Given the description of an element on the screen output the (x, y) to click on. 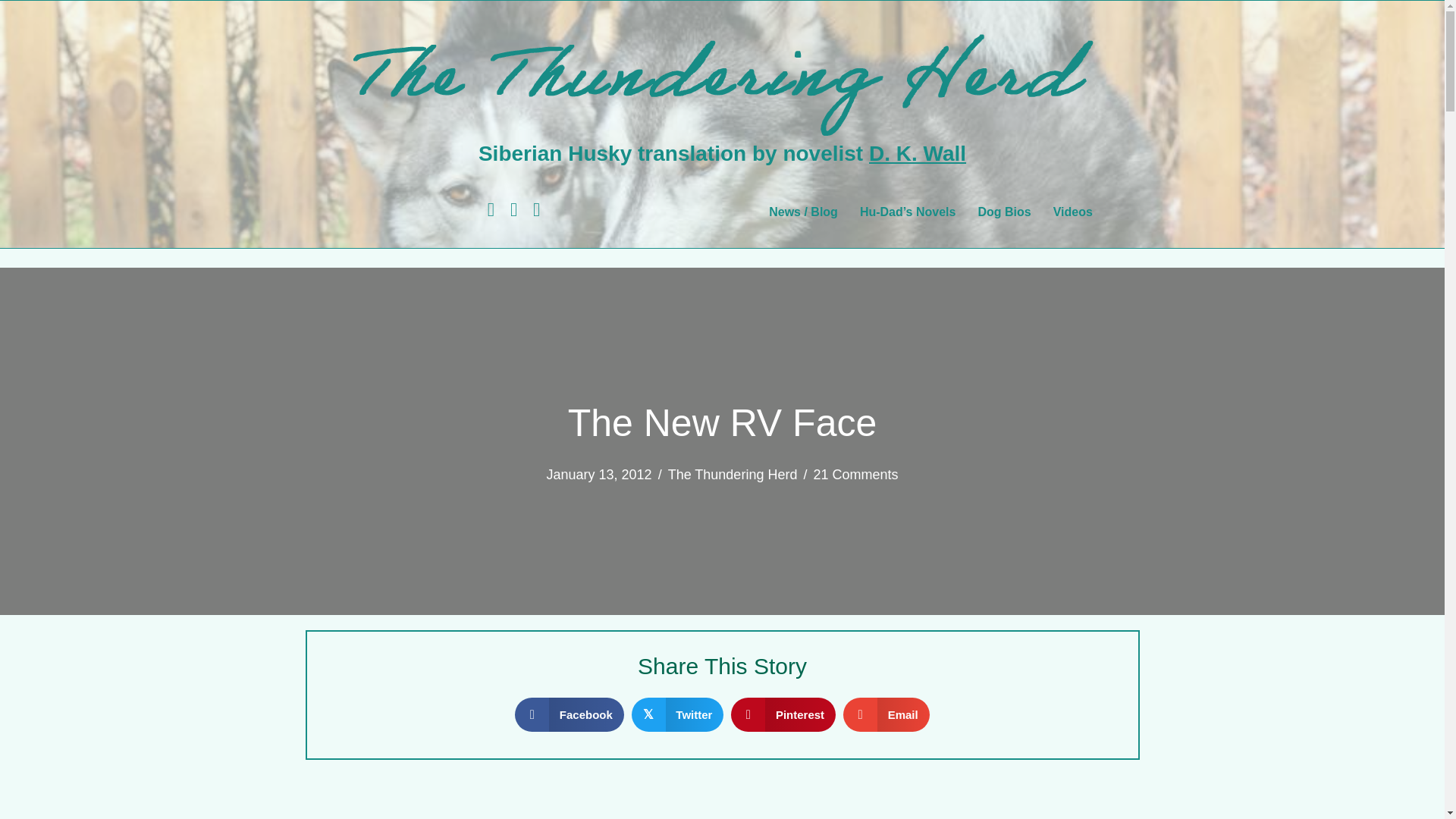
TTH Header 2021-07-13 (721, 76)
21 Comments (855, 474)
Videos (1072, 212)
Pinterest (782, 714)
Dog Bios (1003, 212)
Facebook (569, 714)
D. K. Wall (917, 153)
The Thundering Herd (732, 474)
Email (886, 714)
